Given the description of an element on the screen output the (x, y) to click on. 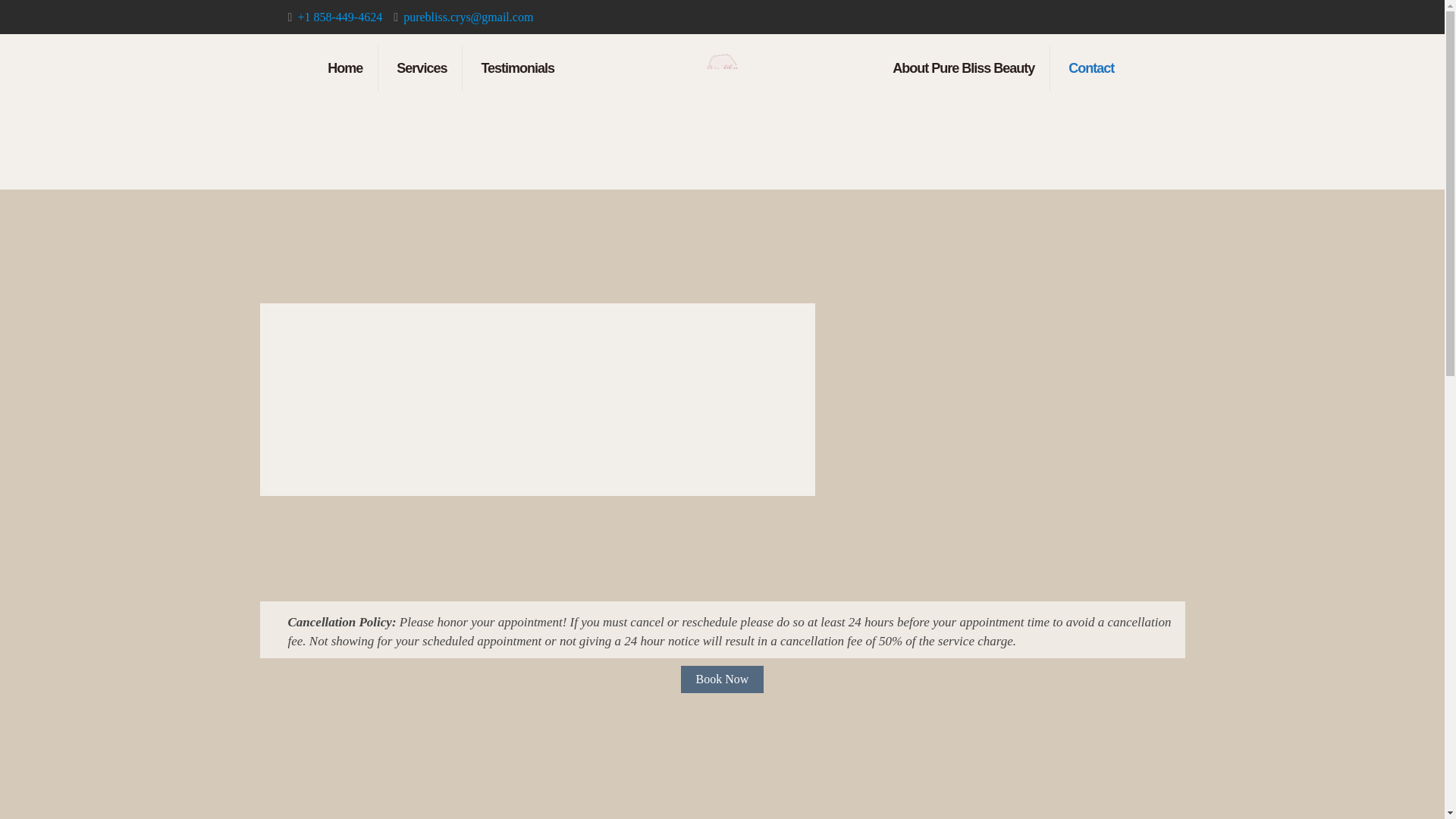
Services (422, 68)
Pure Bliss Beauty (721, 68)
Testimonials (517, 68)
About Pure Bliss Beauty (963, 68)
Book Now (722, 678)
Home (345, 68)
Contact (1090, 68)
